Given the description of an element on the screen output the (x, y) to click on. 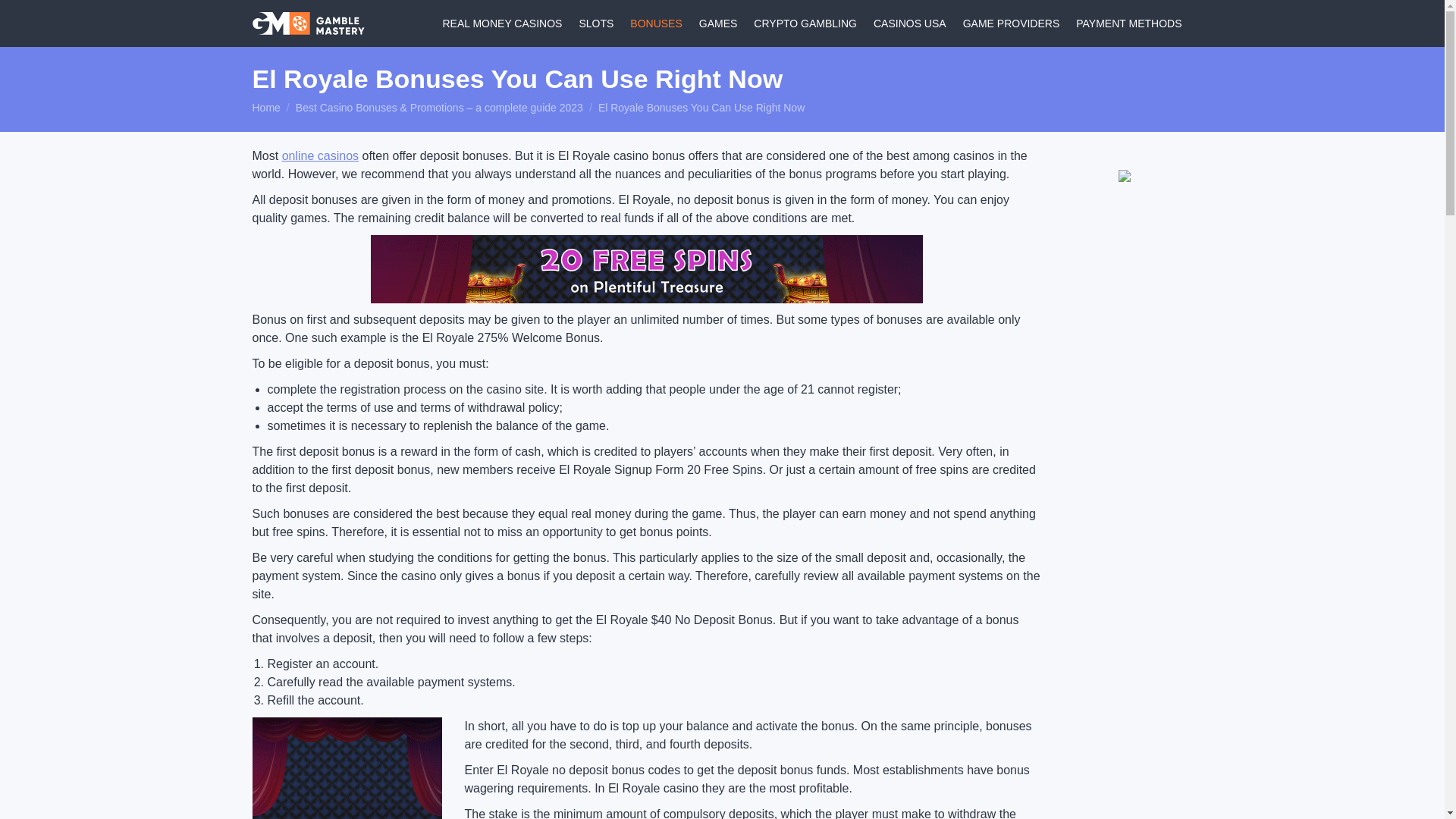
Home (265, 107)
SLOTS (599, 23)
BONUSES (660, 23)
REAL MONEY CASINOS (505, 23)
